Given the description of an element on the screen output the (x, y) to click on. 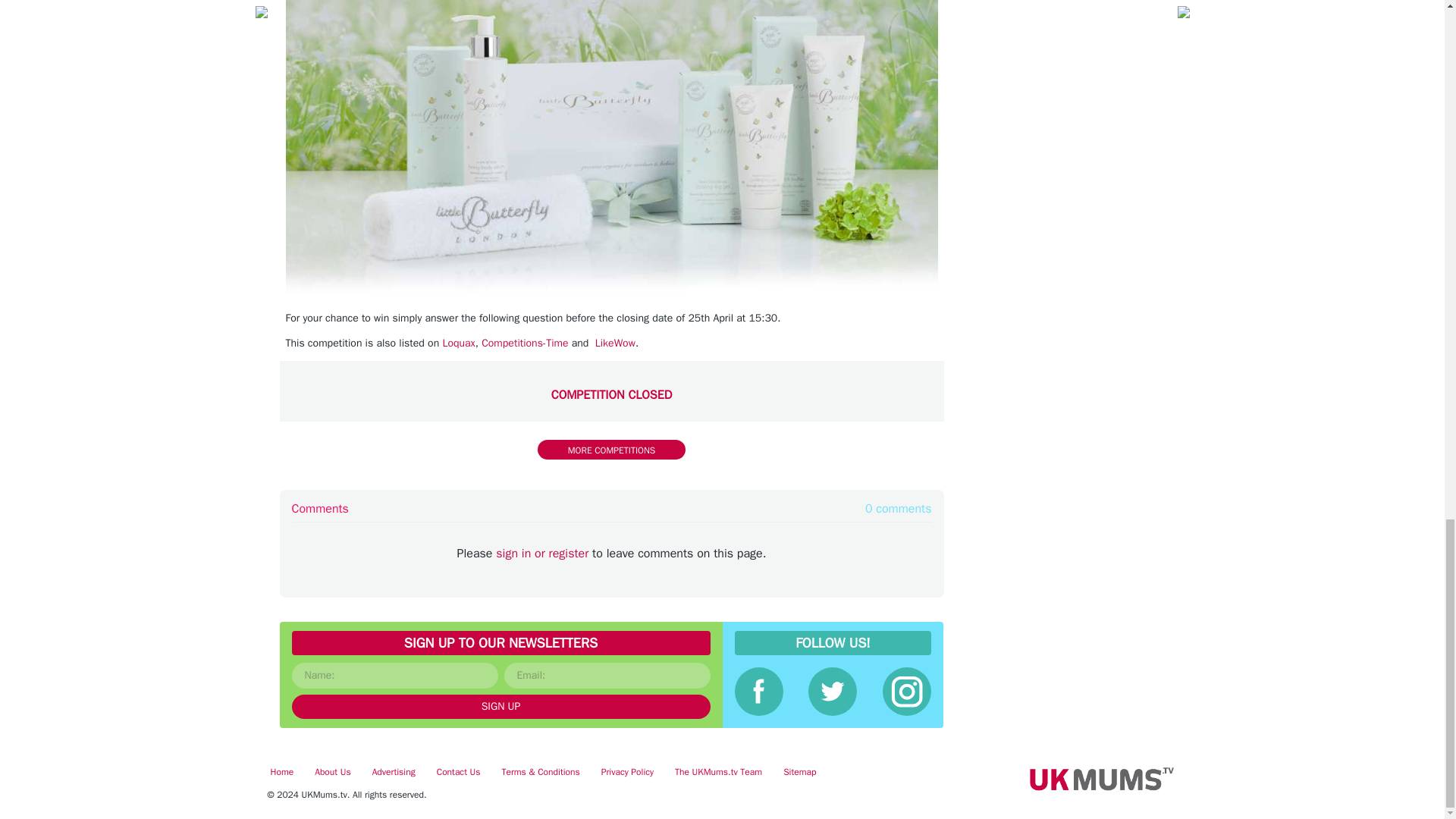
SIGN UP (500, 706)
